Given the description of an element on the screen output the (x, y) to click on. 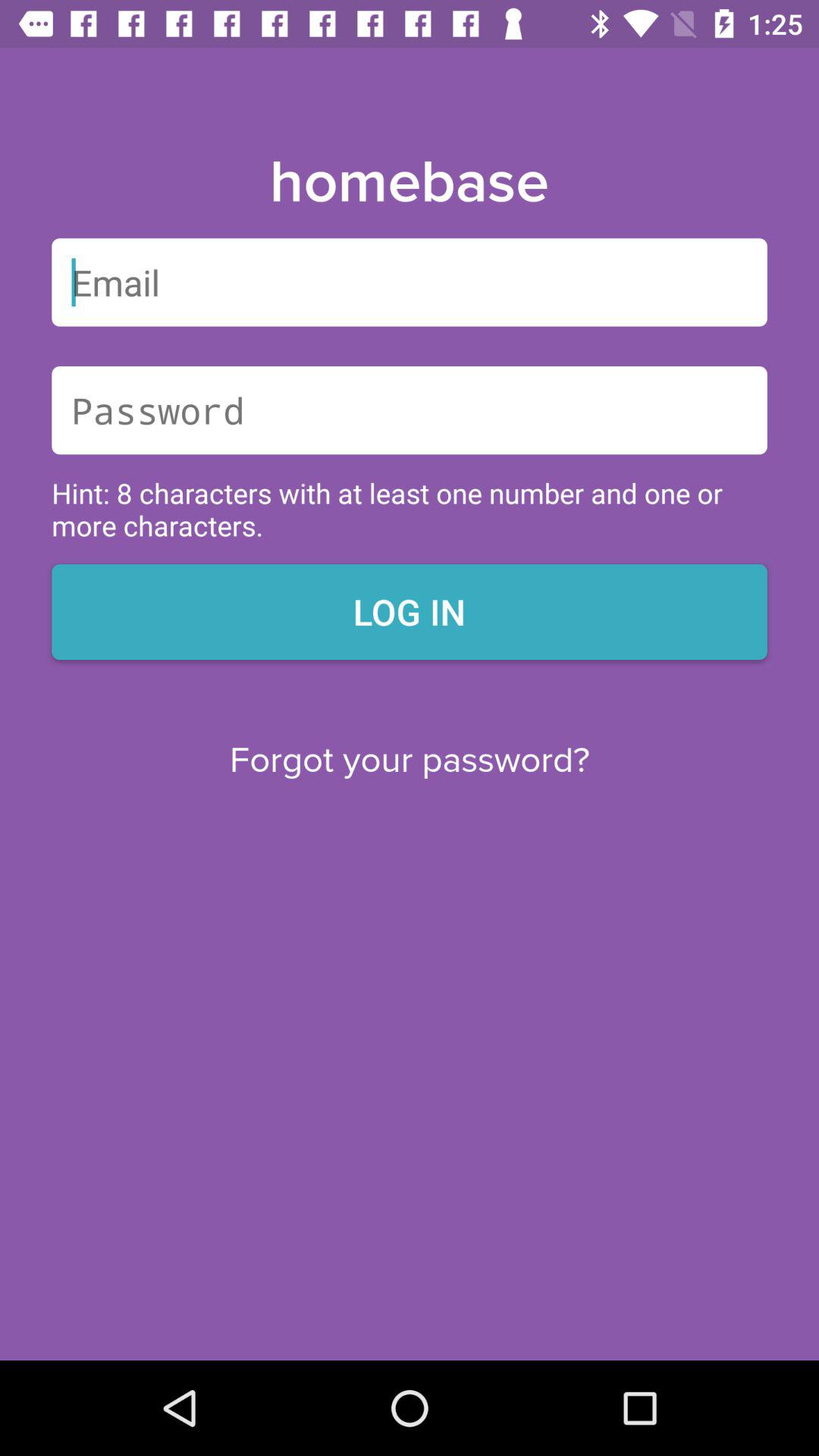
tap the forgot your password? icon (409, 760)
